Given the description of an element on the screen output the (x, y) to click on. 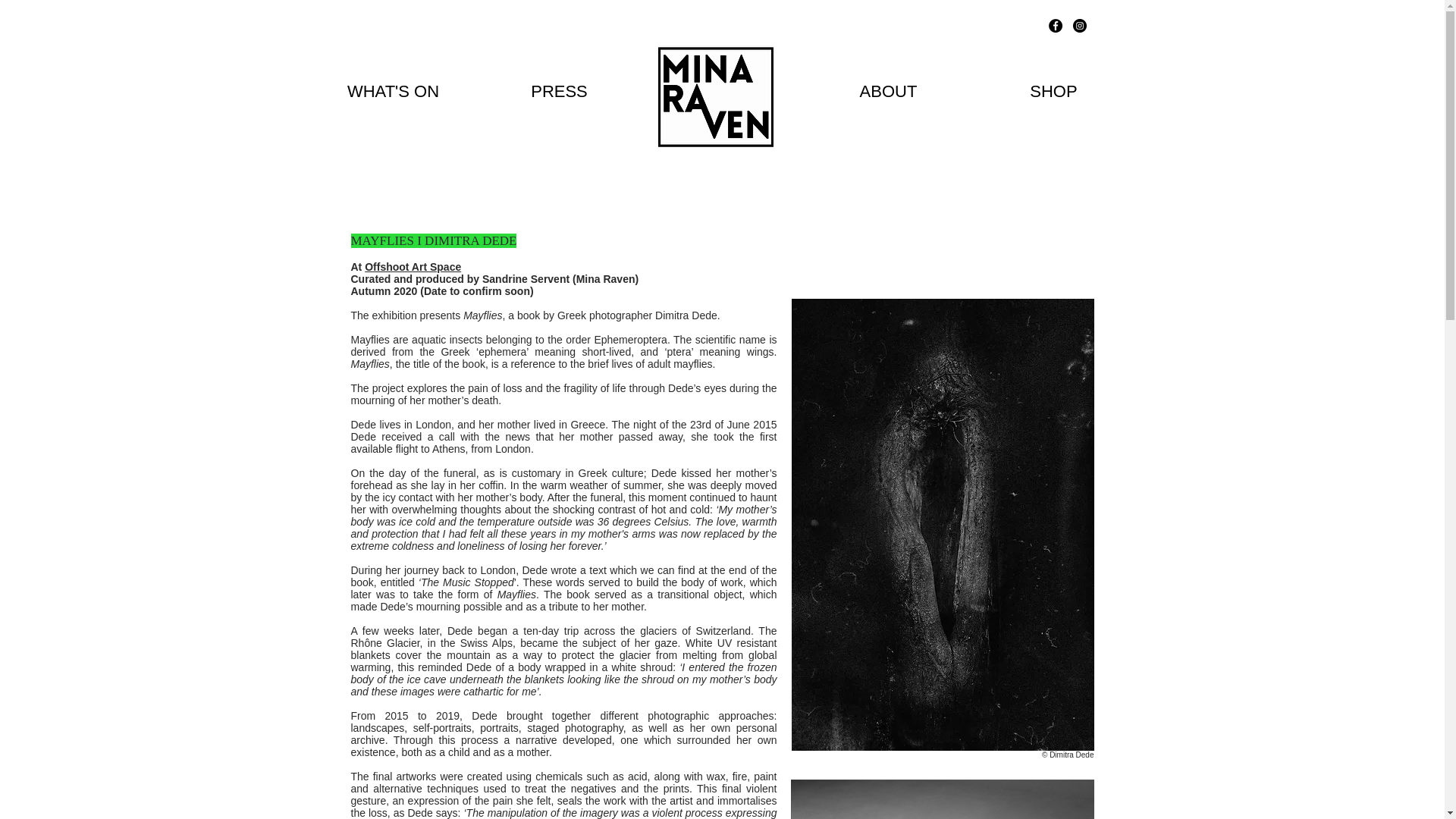
SHOP (1052, 91)
WHAT'S ON (392, 91)
ABOUT (887, 91)
PRESS (558, 91)
Offshoot Art Space (413, 266)
